Given the description of an element on the screen output the (x, y) to click on. 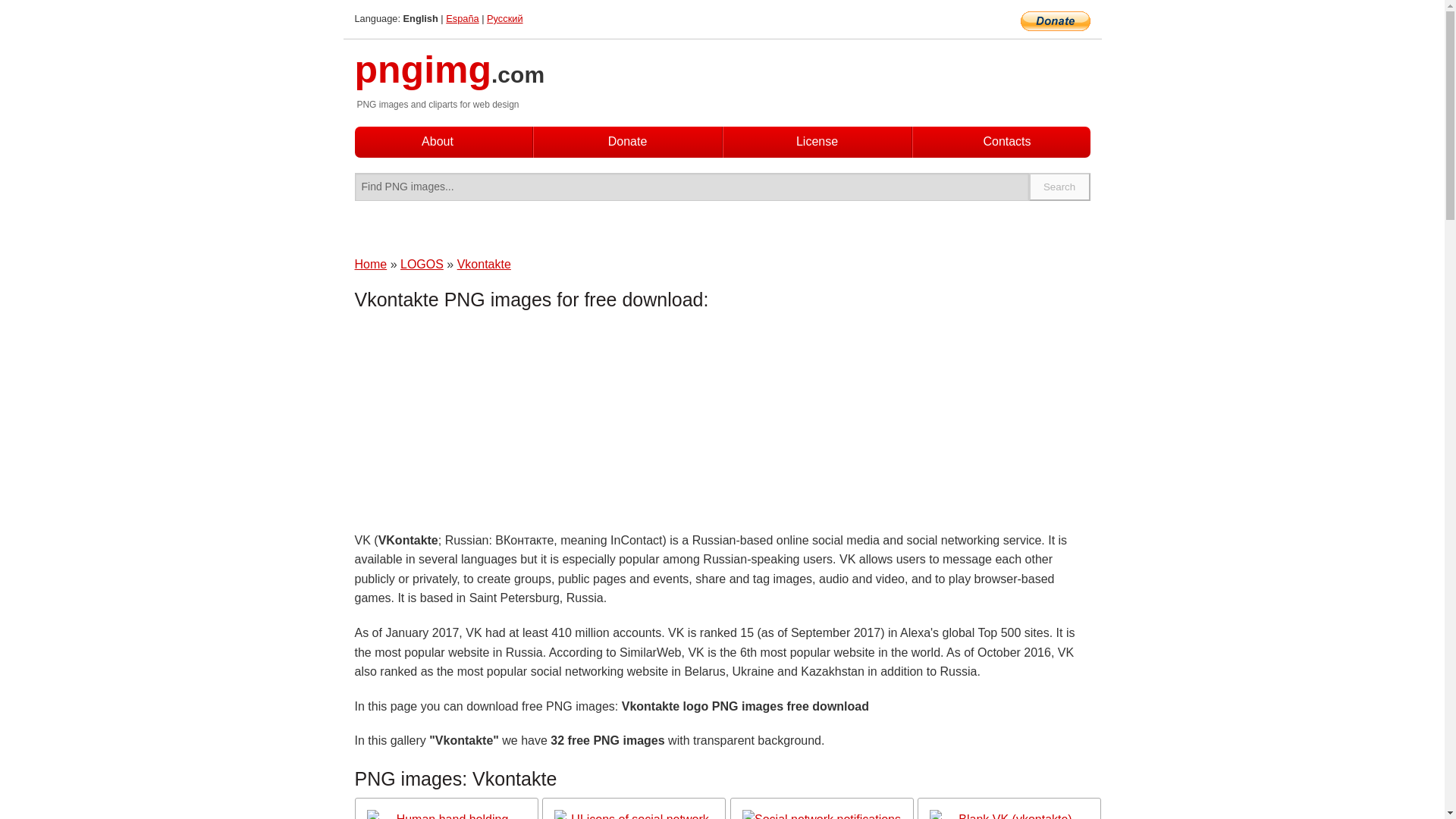
Search (1059, 186)
Donate (627, 141)
License (817, 141)
Home (371, 264)
Vkontakte (484, 264)
Contacts (1006, 141)
LOGOS (422, 264)
About (437, 141)
pngimg.com (449, 78)
Search (1059, 186)
